Given the description of an element on the screen output the (x, y) to click on. 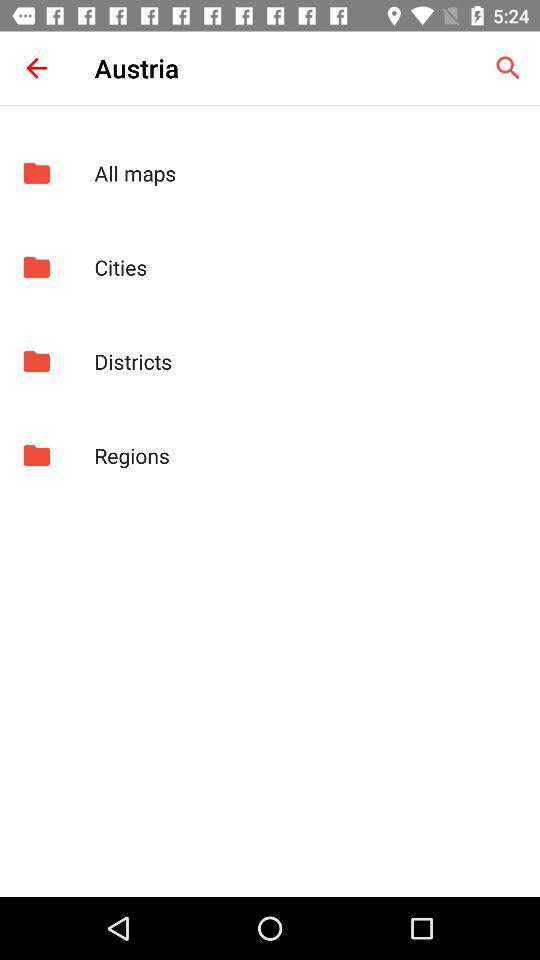
press the icon to the left of the all maps item (36, 173)
